Given the description of an element on the screen output the (x, y) to click on. 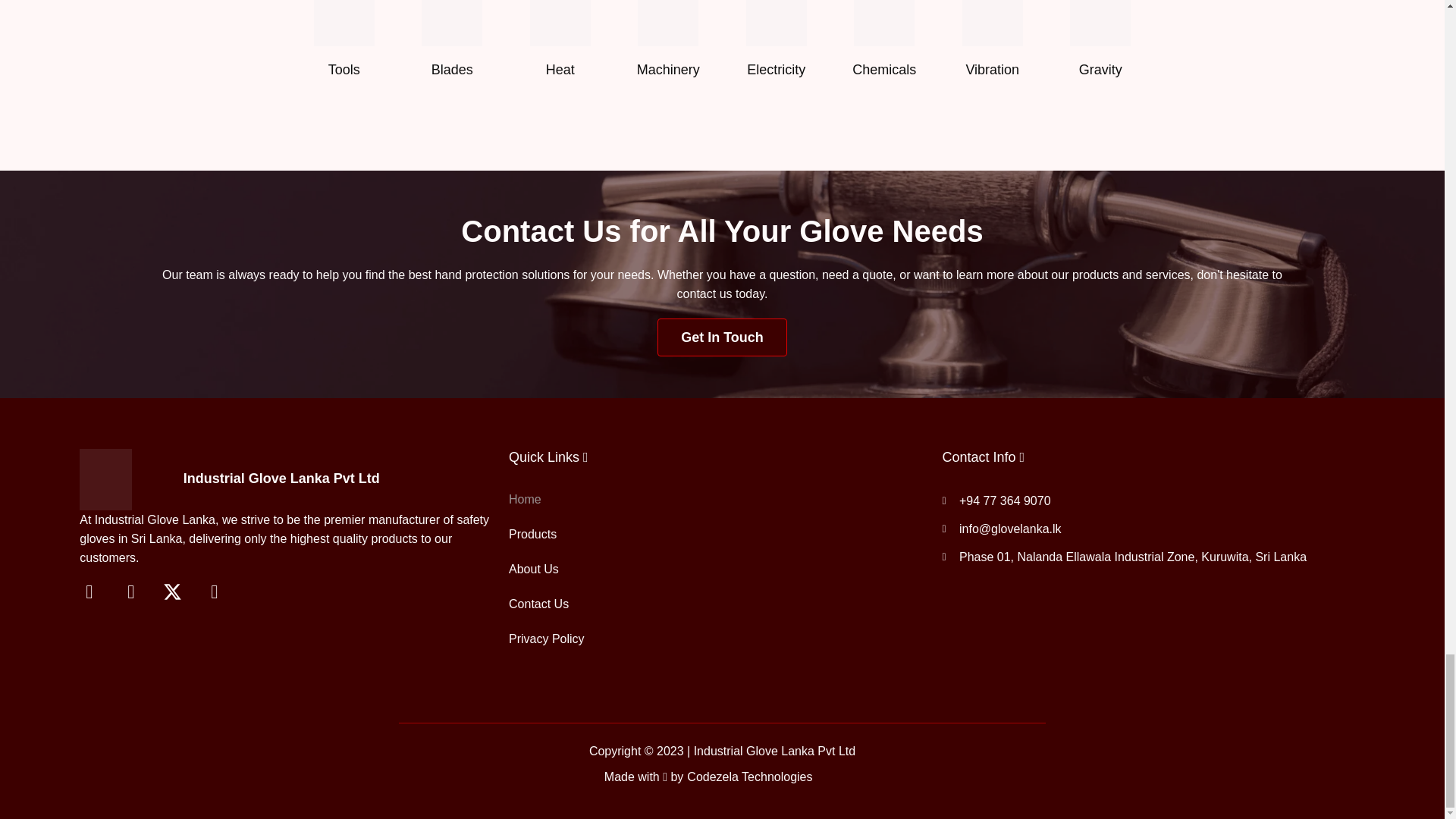
About Us (717, 569)
Products (717, 534)
Get In Touch (722, 337)
Industrial Glove Lanka Pvt Ltd (281, 478)
Contact Us (717, 604)
Home (717, 499)
Privacy Policy (717, 638)
